Given the description of an element on the screen output the (x, y) to click on. 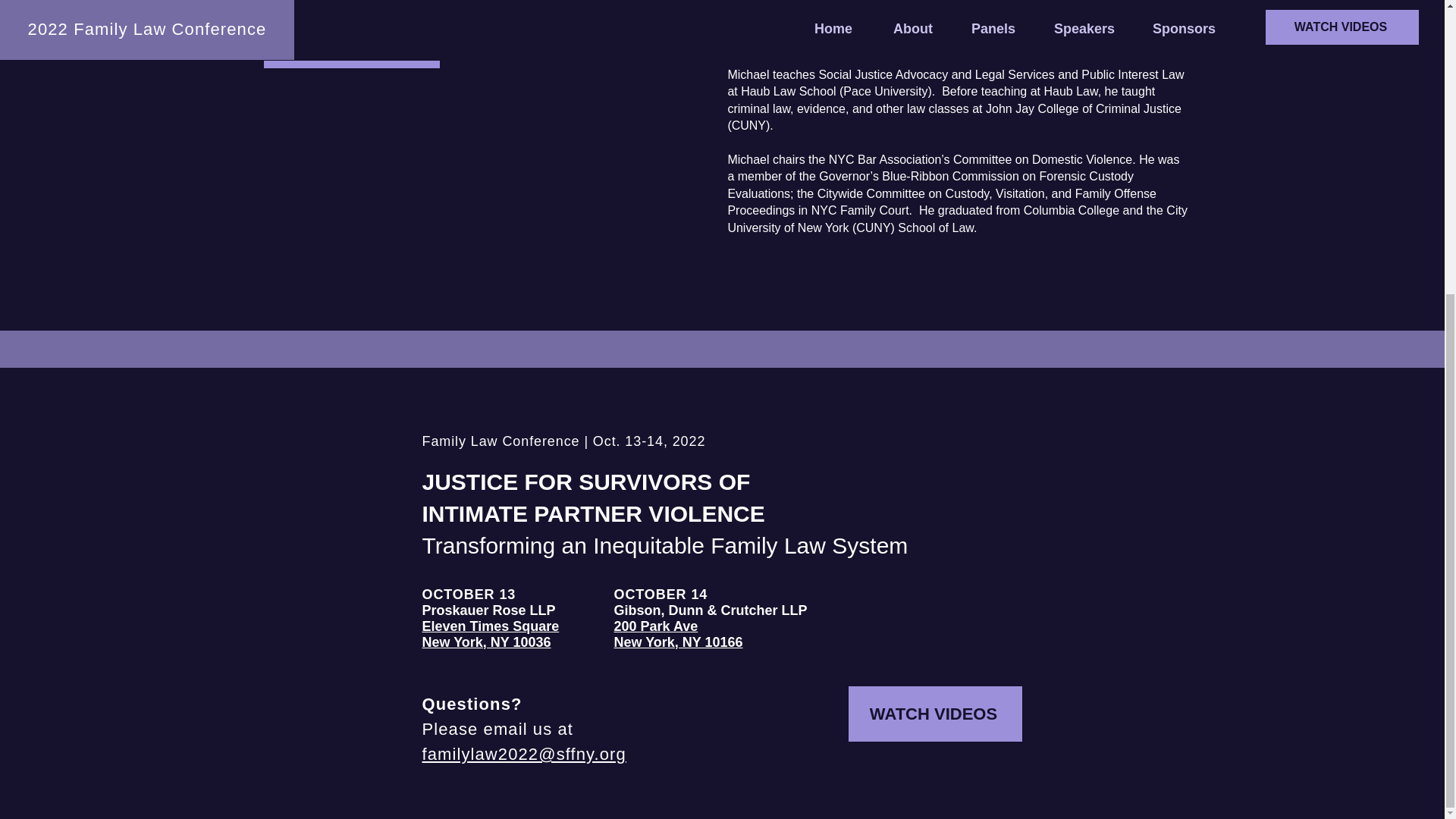
WATCH VIDEOS (934, 714)
SEE ALL SPEAKERS (351, 49)
Questions? (490, 634)
